Given the description of an element on the screen output the (x, y) to click on. 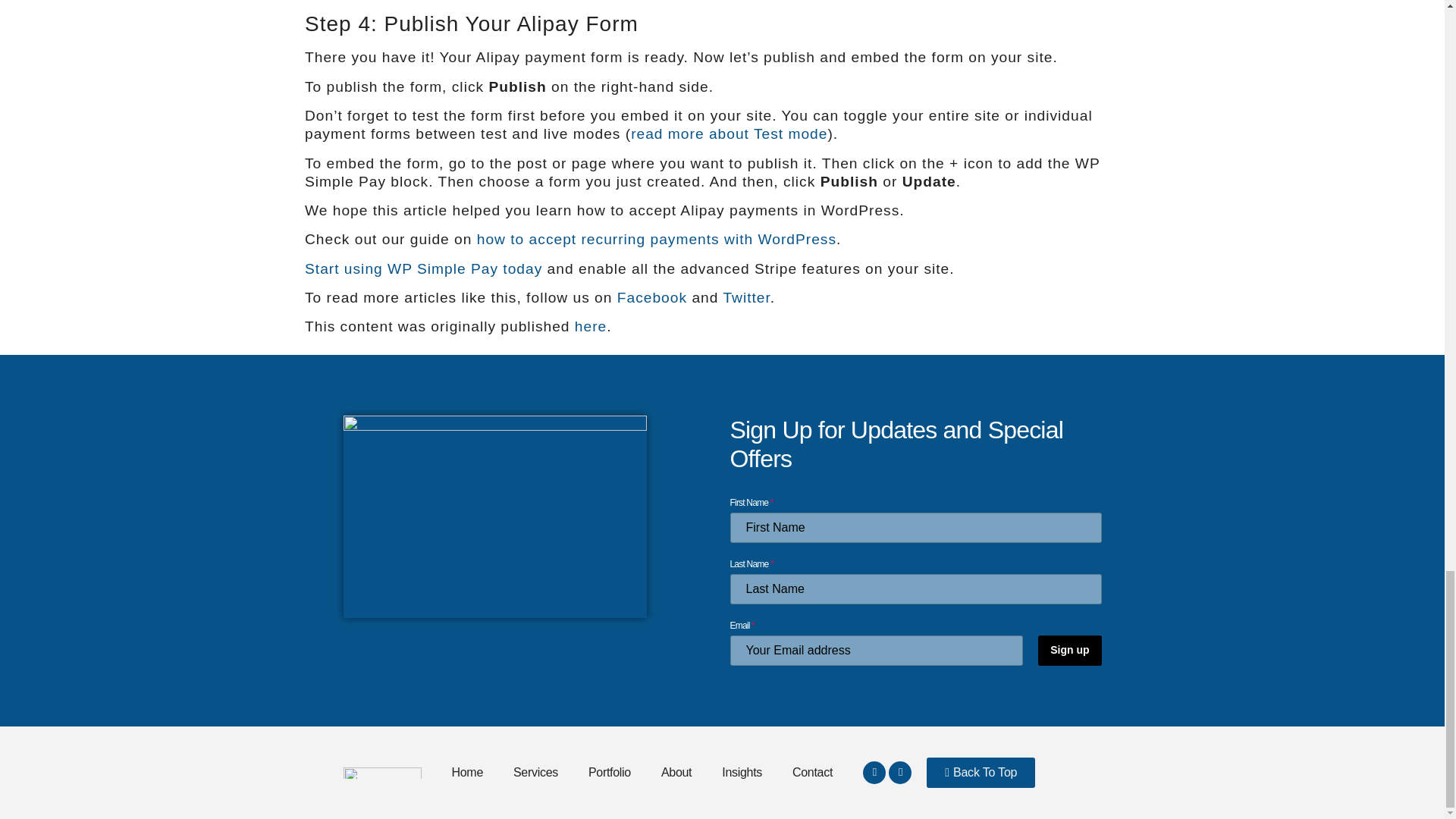
Start using WP Simple Pay today (422, 268)
Pricing (422, 268)
Sign up (1069, 650)
Services (535, 772)
Facebook (652, 297)
Twitter (746, 297)
Insights (741, 772)
Portfolio (609, 772)
Home (466, 772)
here (591, 326)
how to accept recurring payments with WordPress (656, 238)
About (676, 772)
read more about Test mode (728, 133)
